Given the description of an element on the screen output the (x, y) to click on. 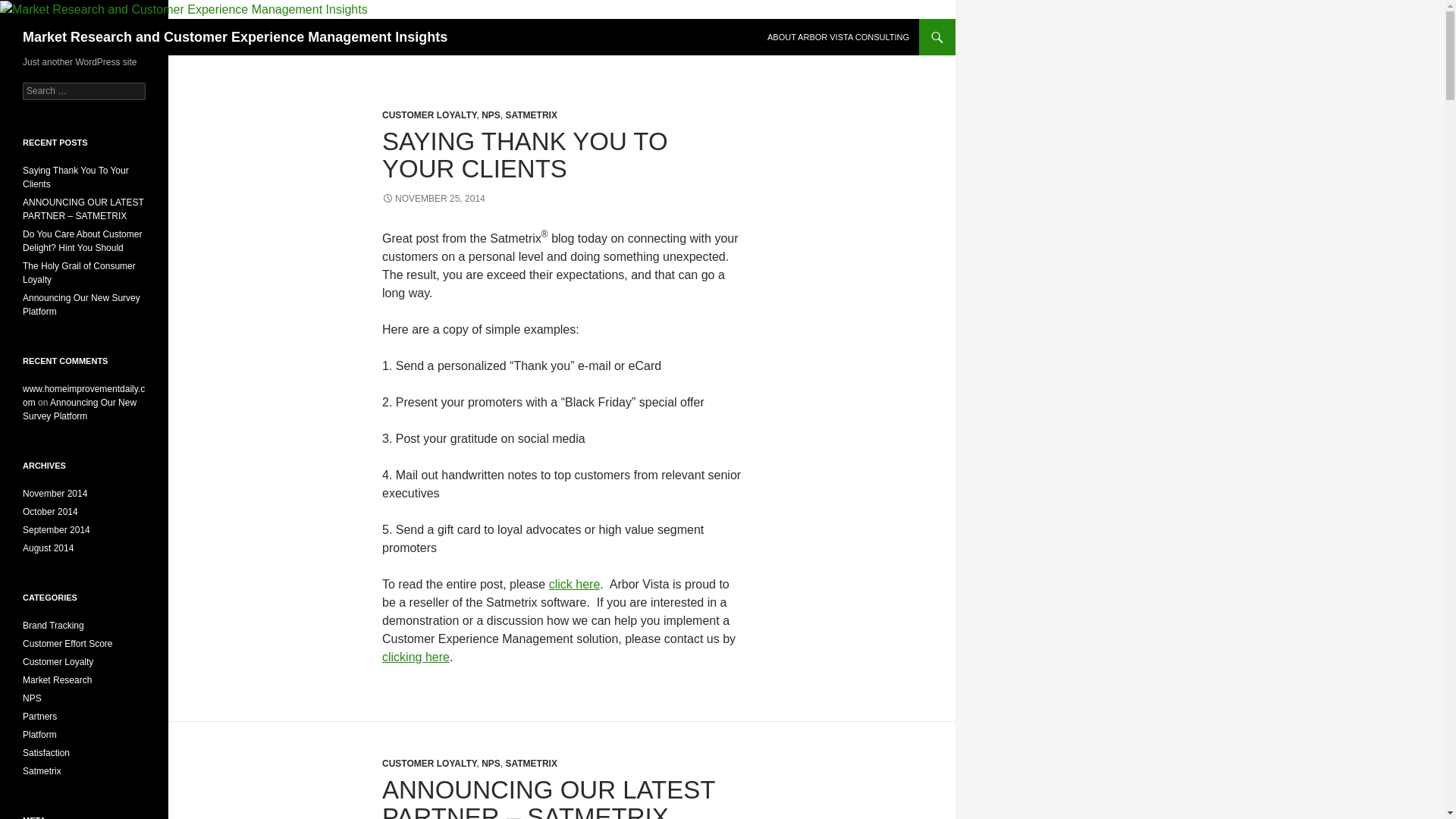
click here (573, 584)
NOVEMBER 25, 2014 (432, 198)
clicking here (415, 656)
CUSTOMER LOYALTY (428, 114)
ABOUT ARBOR VISTA CONSULTING (838, 36)
SATMETRIX (530, 763)
NPS (490, 763)
SAYING THANK YOU TO YOUR CLIENTS (524, 154)
